Given the description of an element on the screen output the (x, y) to click on. 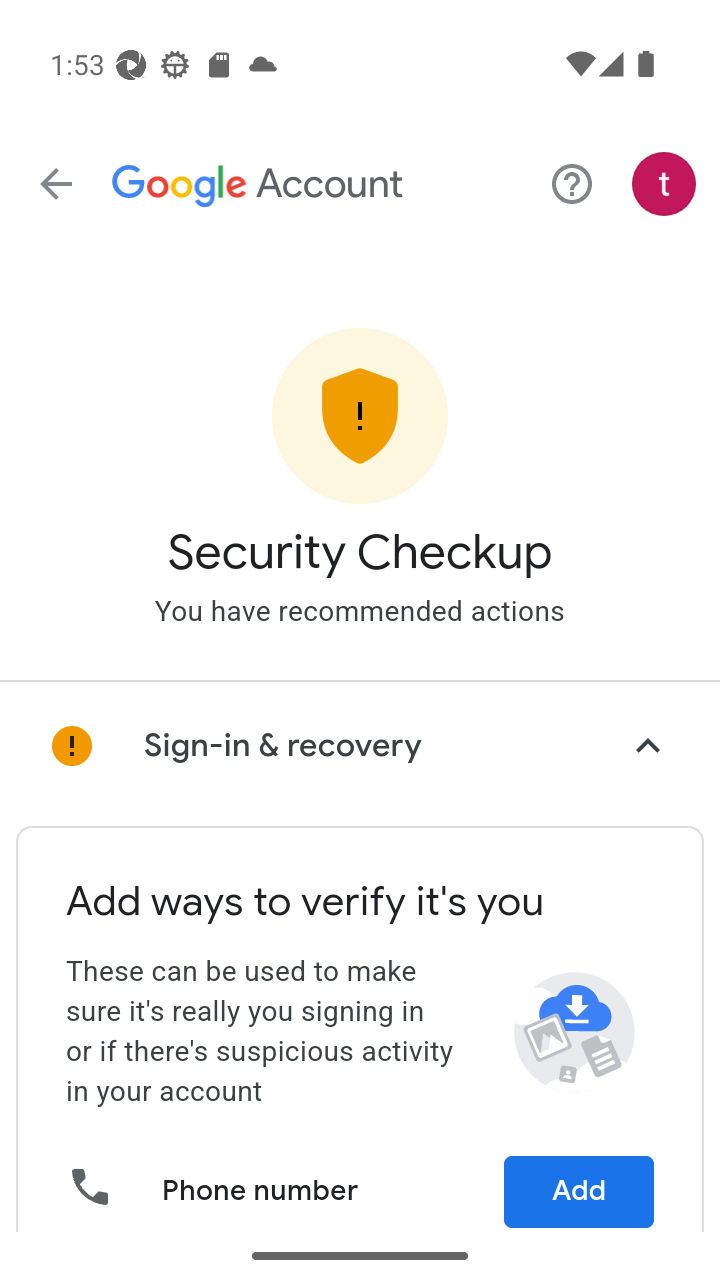
Navigate up (56, 184)
Help & feedback (571, 183)
Issues found in sign-in & recovery (360, 746)
Add your phone number (577, 1191)
